Given the description of an element on the screen output the (x, y) to click on. 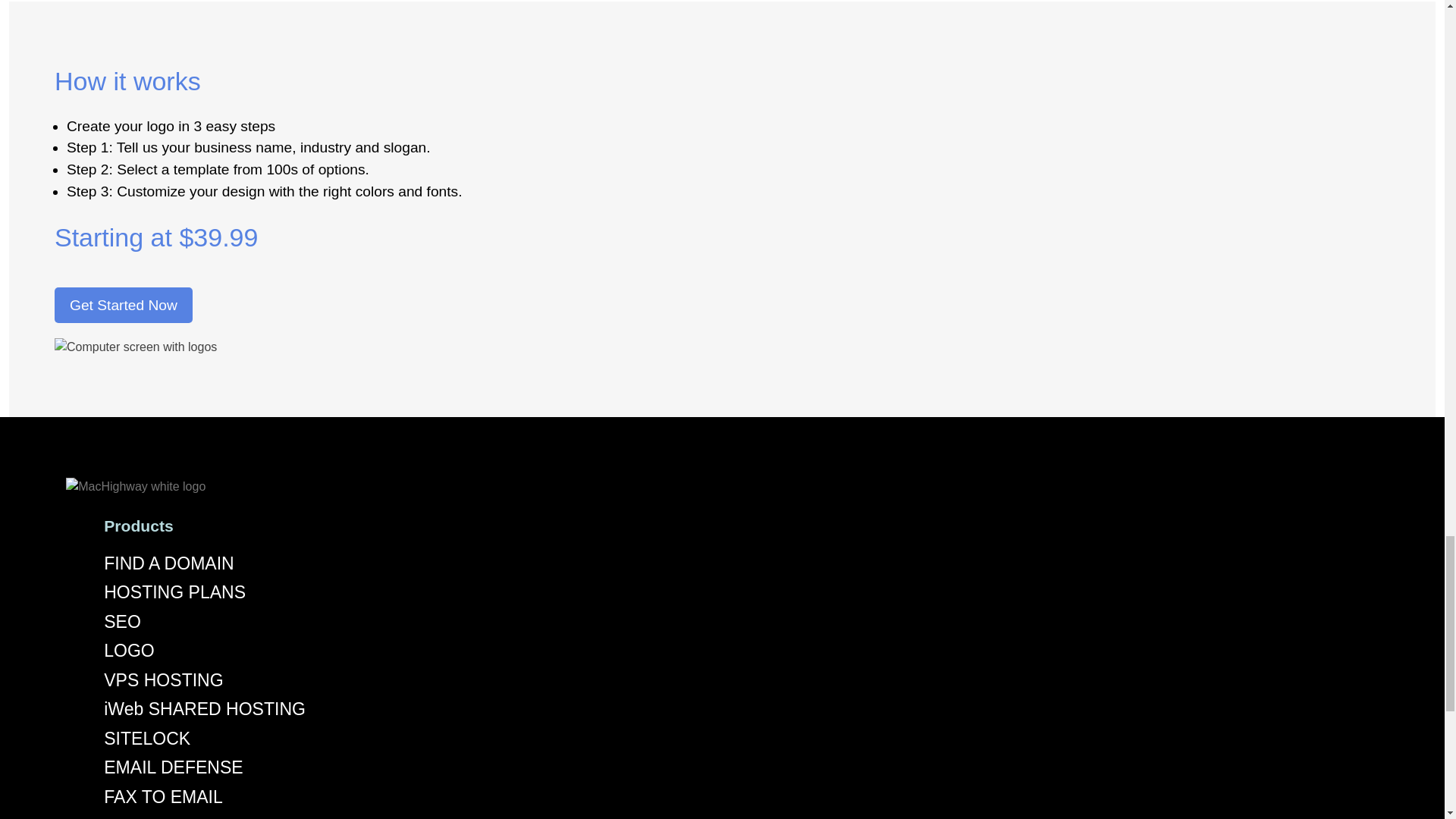
LOGO (128, 650)
FIND A DOMAIN (167, 563)
VPS HOSTING (162, 680)
Get Started Now (123, 304)
SEO (122, 621)
HOSTING PLANS (174, 591)
